Given the description of an element on the screen output the (x, y) to click on. 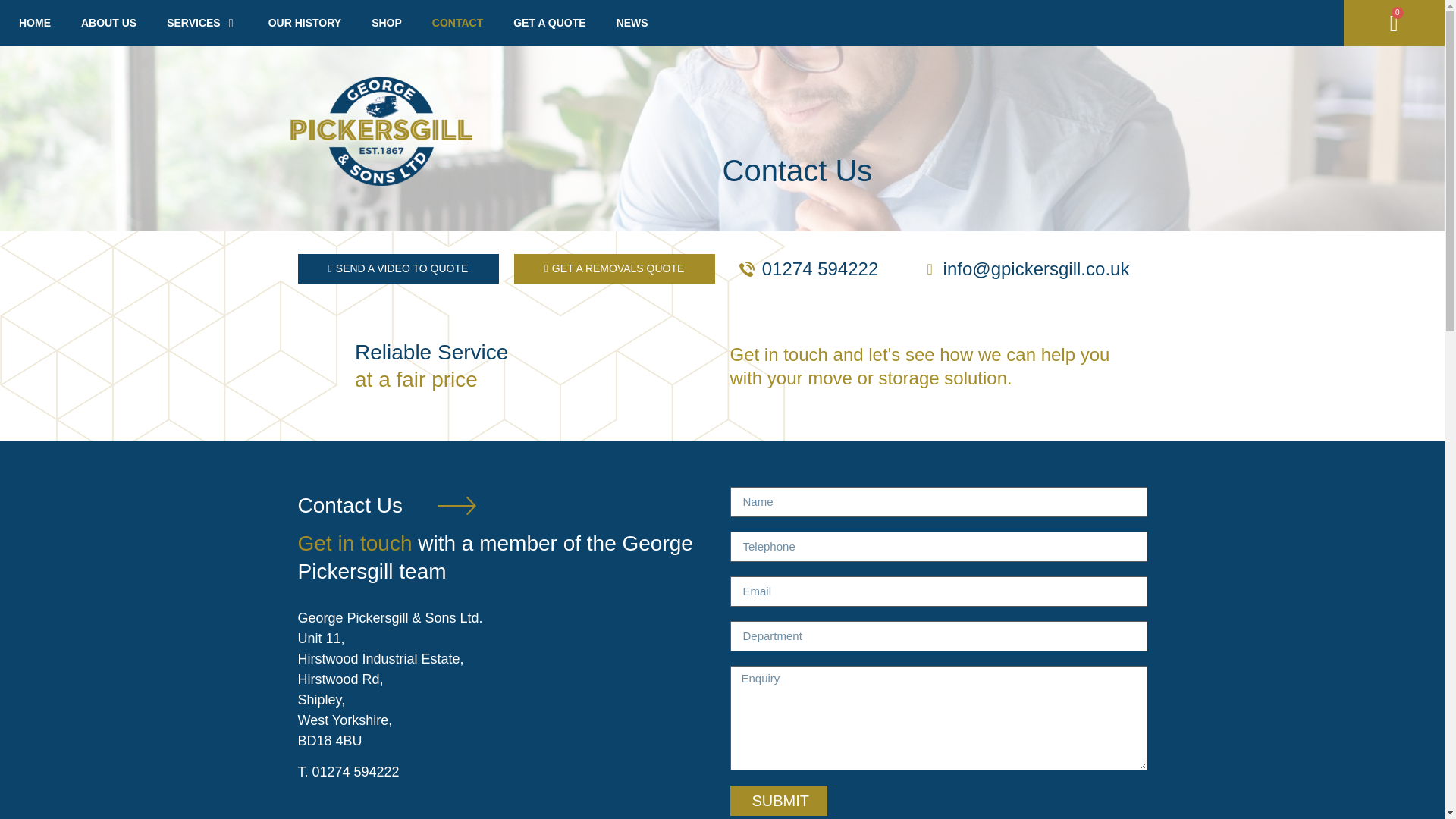
SEND A VIDEO TO QUOTE (397, 268)
CONTACT (457, 23)
OUR HISTORY (303, 23)
SERVICES (194, 23)
GET A QUOTE (549, 23)
NEWS (631, 23)
SHOP (386, 23)
0 (1393, 23)
ABOUT US (108, 23)
01274 594222 (807, 267)
